Given the description of an element on the screen output the (x, y) to click on. 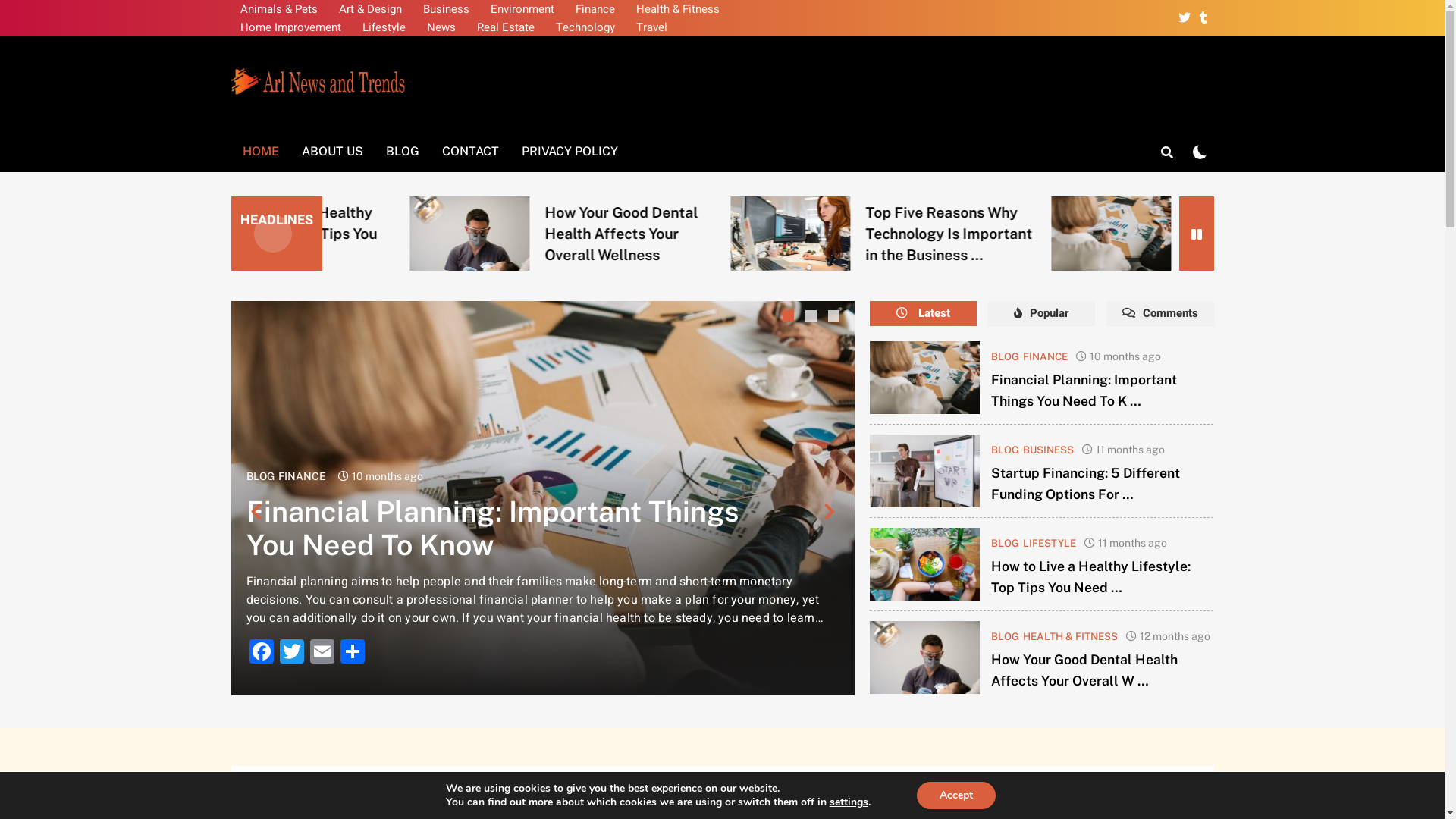
BLOG Element type: text (259, 476)
3 Element type: text (835, 317)
Finance Element type: text (594, 8)
How to Live a Healthy Lifestyle: Top Tips You Need to Know Element type: hover (924, 563)
FINANCE Element type: text (301, 476)
LIFESTYLE Element type: text (1049, 542)
Technology Element type: text (584, 26)
Share Element type: text (351, 653)
News Element type: text (440, 26)
Environment Element type: text (521, 8)
Lifestyle Element type: text (383, 26)
ABOUT US Element type: text (331, 151)
Animals & Pets Element type: text (278, 8)
FINANCE Element type: text (1044, 356)
1 Element type: text (789, 317)
HEALTH & FITNESS Element type: text (1069, 636)
BUSINESS Element type: text (1047, 449)
How to Live a Healthy Lifestyle: Top Tips You Need to Know Element type: text (1152, 233)
Home Improvement Element type: text (289, 26)
Financial Planning: Important Things You Need To Know Element type: text (491, 527)
BLOG Element type: text (1005, 542)
How Your Good Dental Health Affects Your Overall Wellness Element type: hover (807, 233)
How to Live a Healthy Lifestyle: Top Tips You Need to Know Element type: hover (494, 233)
11 months ago Element type: text (1132, 542)
Health & Fitness Element type: text (677, 8)
10 months ago Element type: text (387, 476)
How to Live a Healthy Lifestyle: Top Tips You Need to Know Element type: hover (542, 498)
Financial Planning: Important Things You Need To Know Element type: hover (924, 377)
CONTACT Element type: text (470, 151)
BLOG Element type: text (402, 151)
How Your Good Dental Health Affects Your Overall Wellness Element type: hover (924, 657)
BLOG Element type: text (1005, 356)
2 Element type: text (812, 317)
Travel Element type: text (650, 26)
Email Element type: hover (914, 653)
PRIVACY POLICY Element type: text (568, 151)
11 months ago Element type: text (1129, 449)
Financial Planning: Important Things You Need To Know Element type: text (513, 233)
Email Element type: text (321, 653)
BLOG Element type: text (1005, 449)
Twitter Element type: text (291, 653)
Accept Element type: text (955, 795)
12 months ago Element type: text (1174, 636)
Arl News And Trends Element type: text (395, 117)
Art & Design Element type: text (369, 8)
Business Element type: text (446, 8)
HOME Element type: text (259, 151)
How Your Good Dental Health Affects Your Overall Wellness Element type: hover (810, 233)
BLOG Element type: text (1005, 636)
Real Estate Element type: text (504, 26)
10 months ago Element type: text (1125, 356)
How to Live a Healthy Lifestyle: Top Tips You Need to Know Element type: hover (495, 233)
Facebook Element type: text (260, 653)
